Given the description of an element on the screen output the (x, y) to click on. 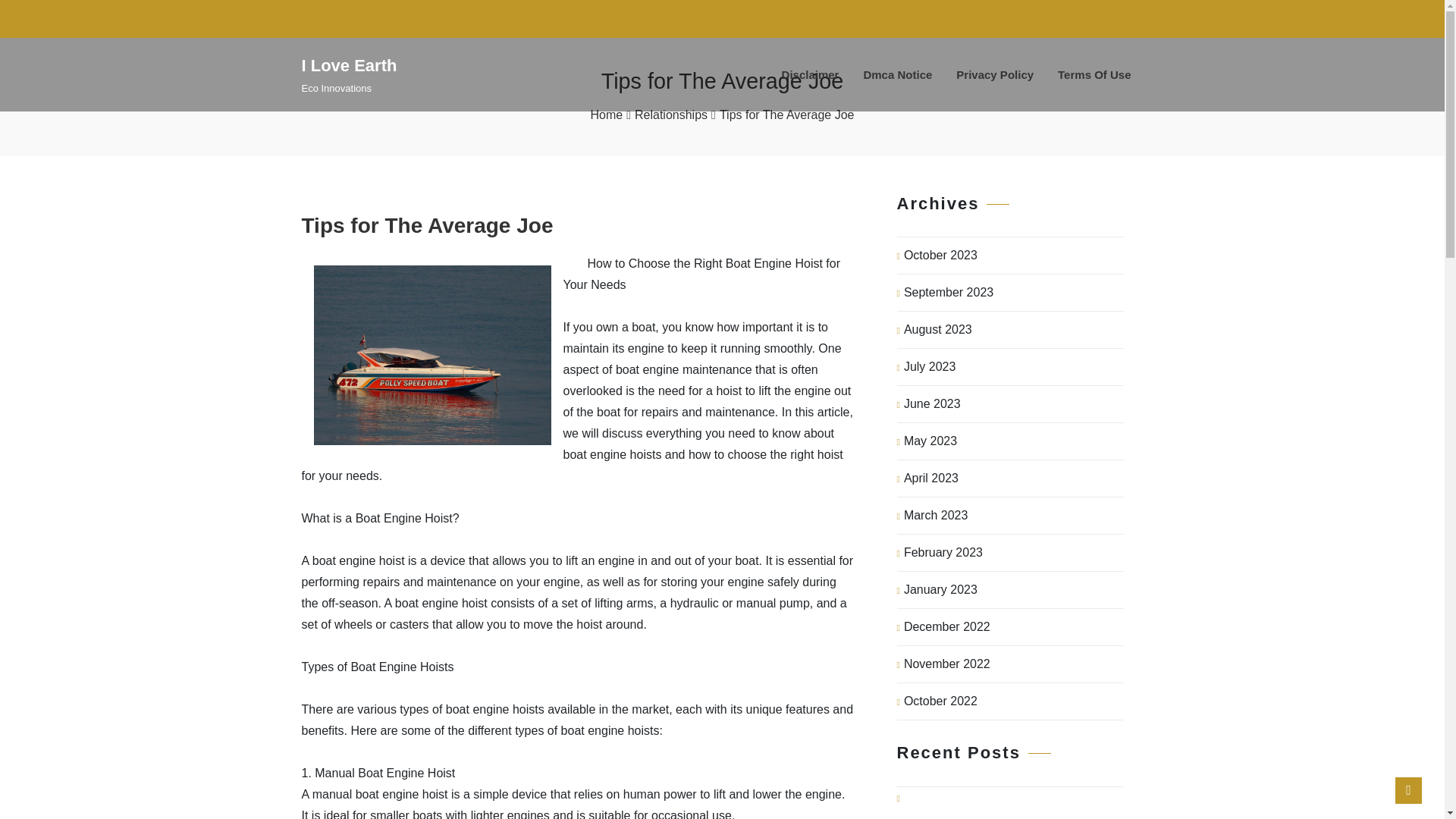
Home (606, 115)
April 2023 (931, 478)
May 2023 (930, 441)
August 2023 (938, 330)
October 2023 (940, 255)
September 2023 (948, 292)
December 2022 (947, 627)
Terms Of Use (1093, 74)
November 2022 (947, 664)
July 2023 (930, 366)
